Given the description of an element on the screen output the (x, y) to click on. 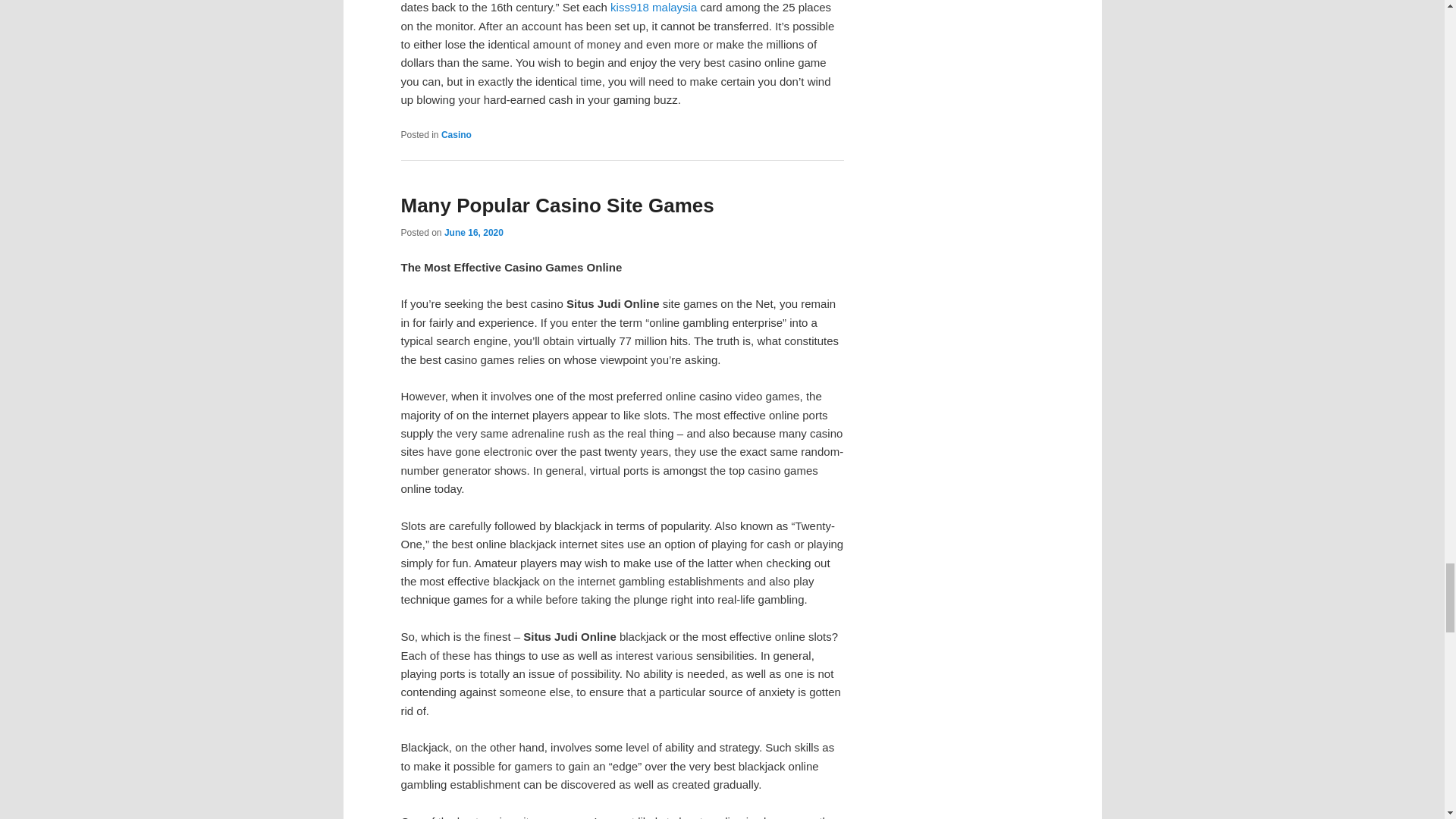
9:30 am (473, 232)
